Given the description of an element on the screen output the (x, y) to click on. 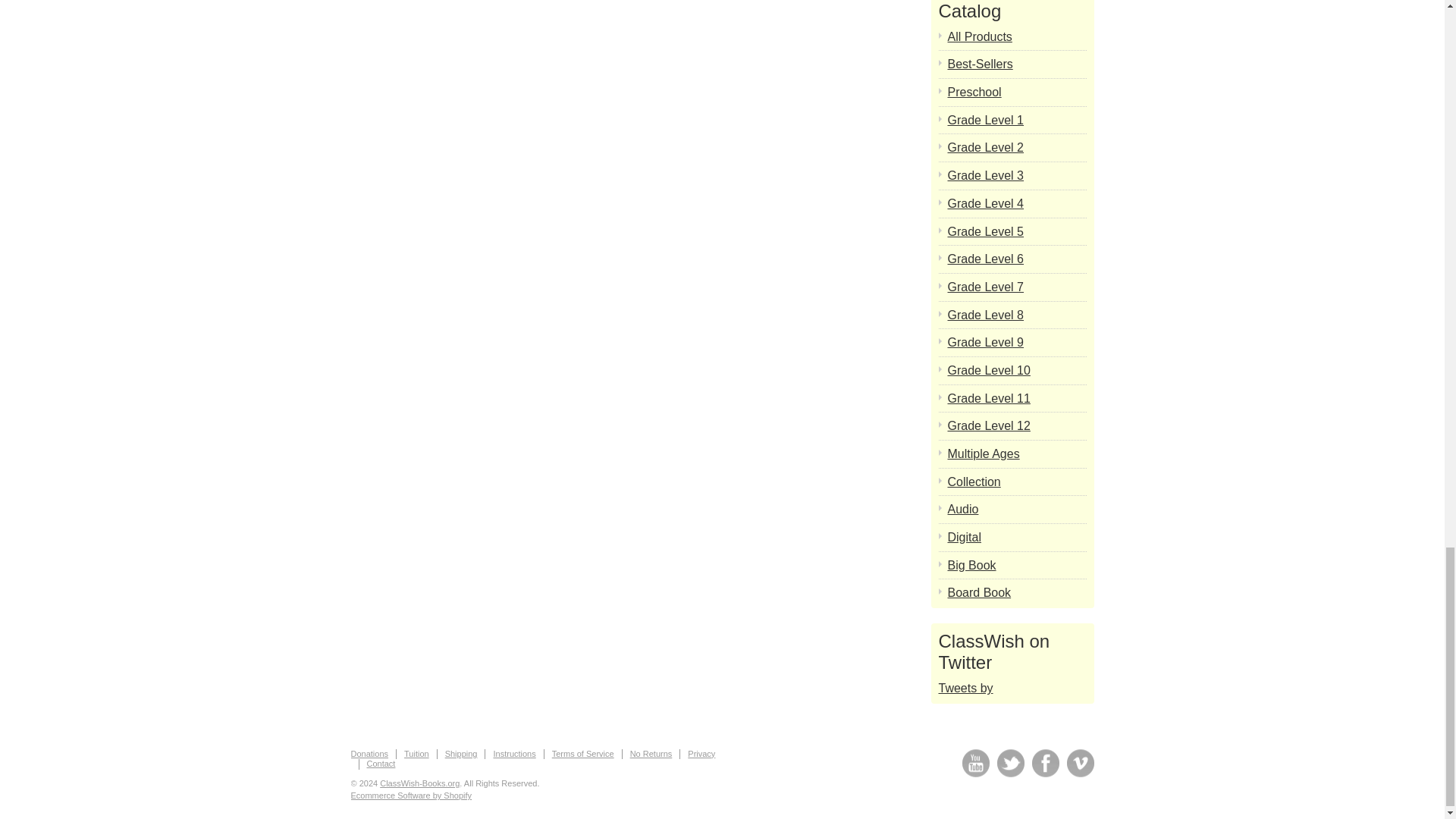
Grade Level 4 (1016, 203)
Grade Level 2 (1016, 147)
Grade Level 1 (1016, 120)
Grade Level 3 (1016, 175)
All Products (1016, 37)
Grade Level 6 (1016, 258)
Preschool (1016, 92)
Grade Level 5 (1016, 231)
Best-Sellers (1016, 64)
